Given the description of an element on the screen output the (x, y) to click on. 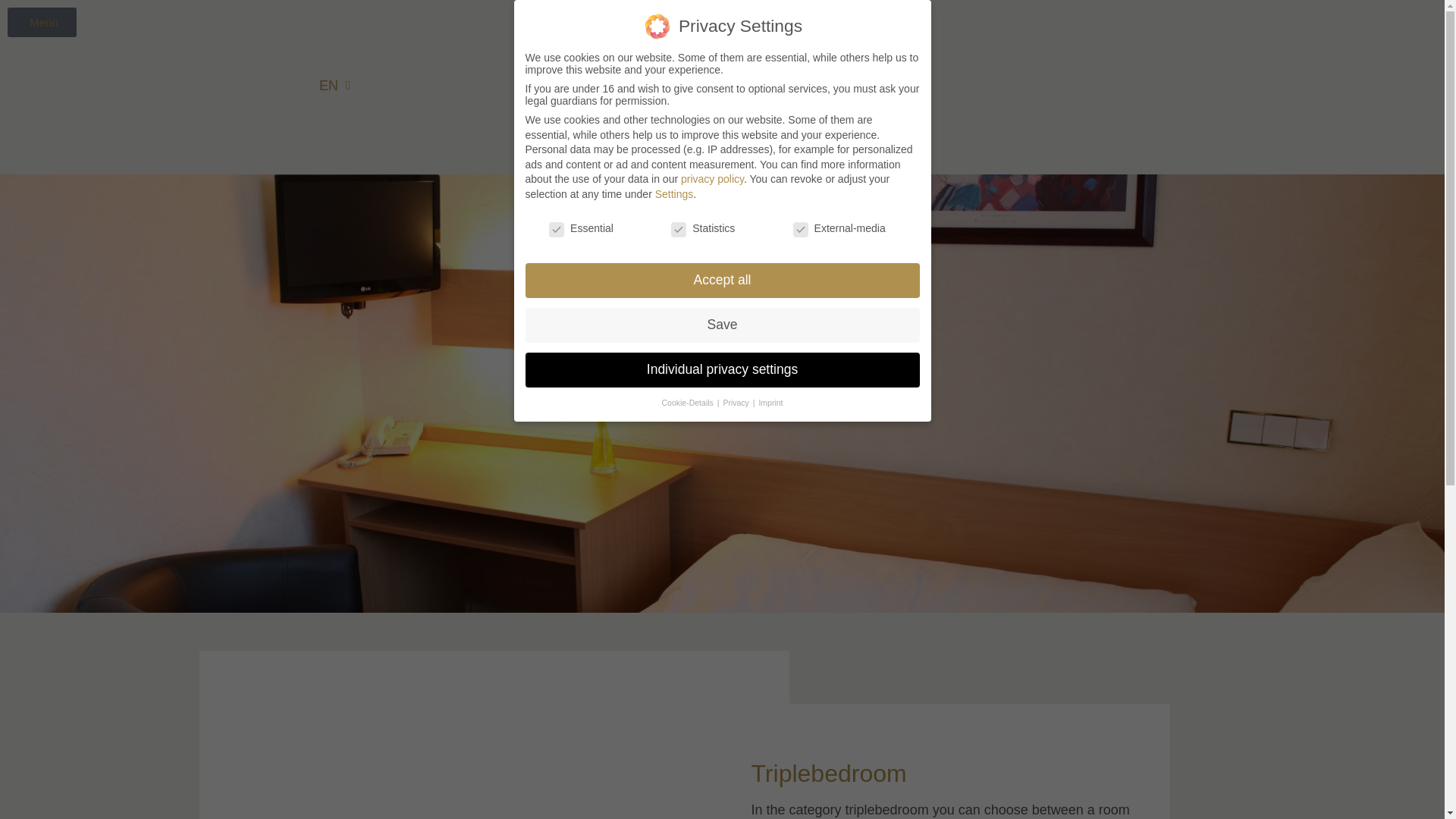
EN (334, 85)
